Given the description of an element on the screen output the (x, y) to click on. 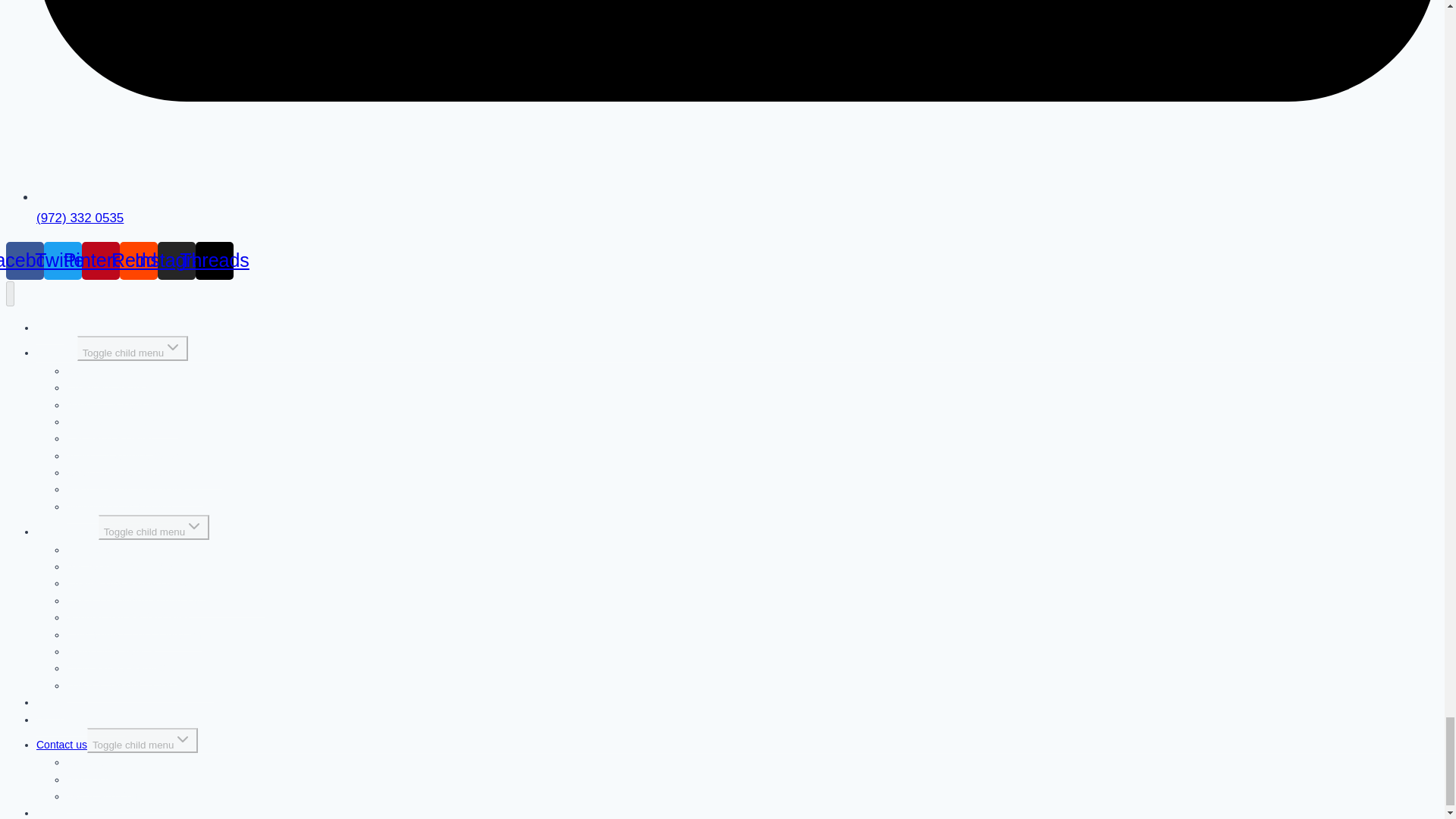
Expand (172, 347)
Expand (182, 739)
Expand (193, 525)
